Given the description of an element on the screen output the (x, y) to click on. 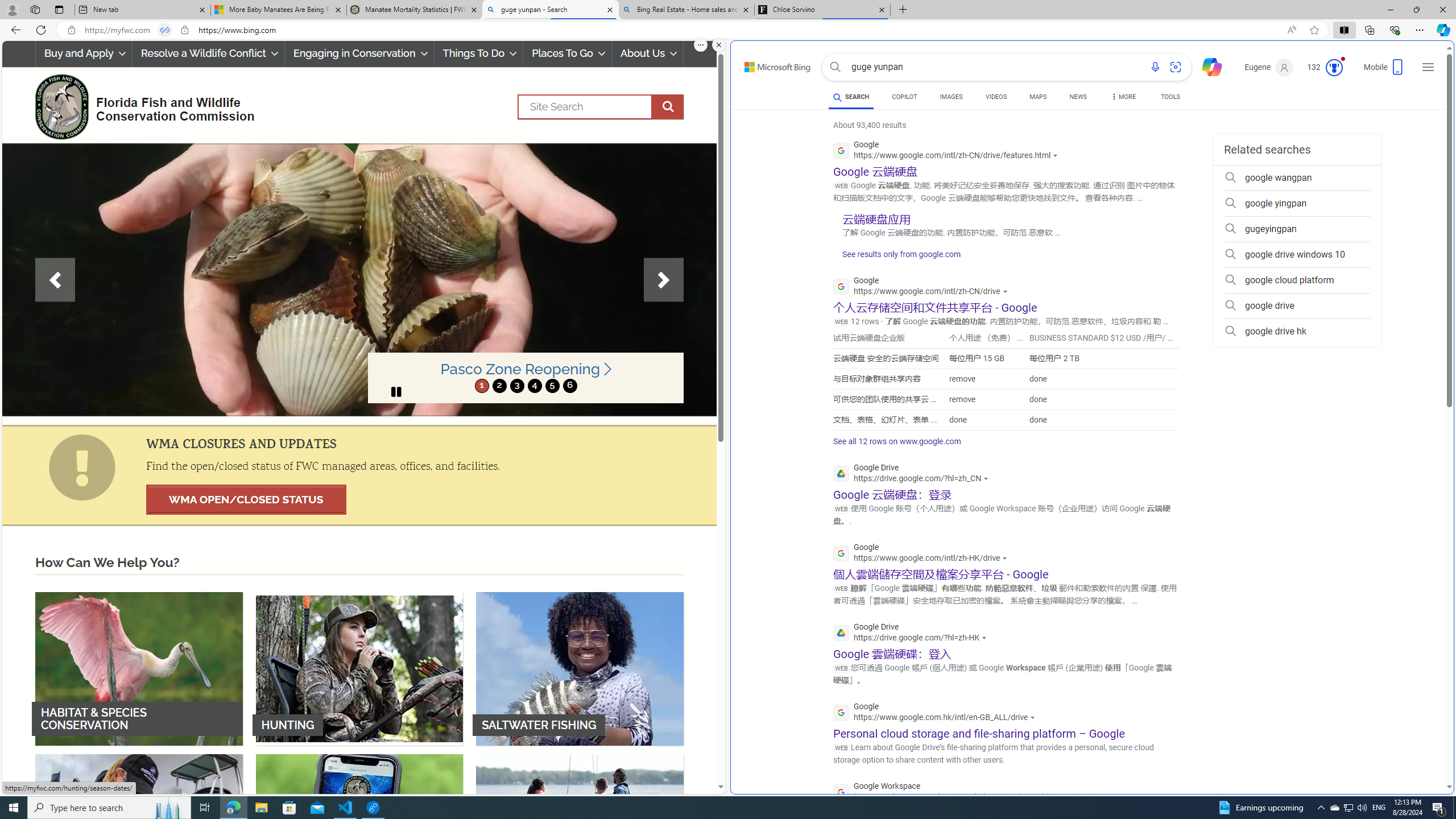
Workspaces (34, 9)
Restore (1416, 9)
About Us (647, 53)
3 (516, 385)
2 (499, 385)
Chloe Sorvino (822, 9)
TOOLS (1171, 96)
COPILOT (903, 98)
MAPS (1038, 96)
guge yunpan - Search (550, 9)
google drive (1297, 305)
Global web icon (841, 791)
